Given the description of an element on the screen output the (x, y) to click on. 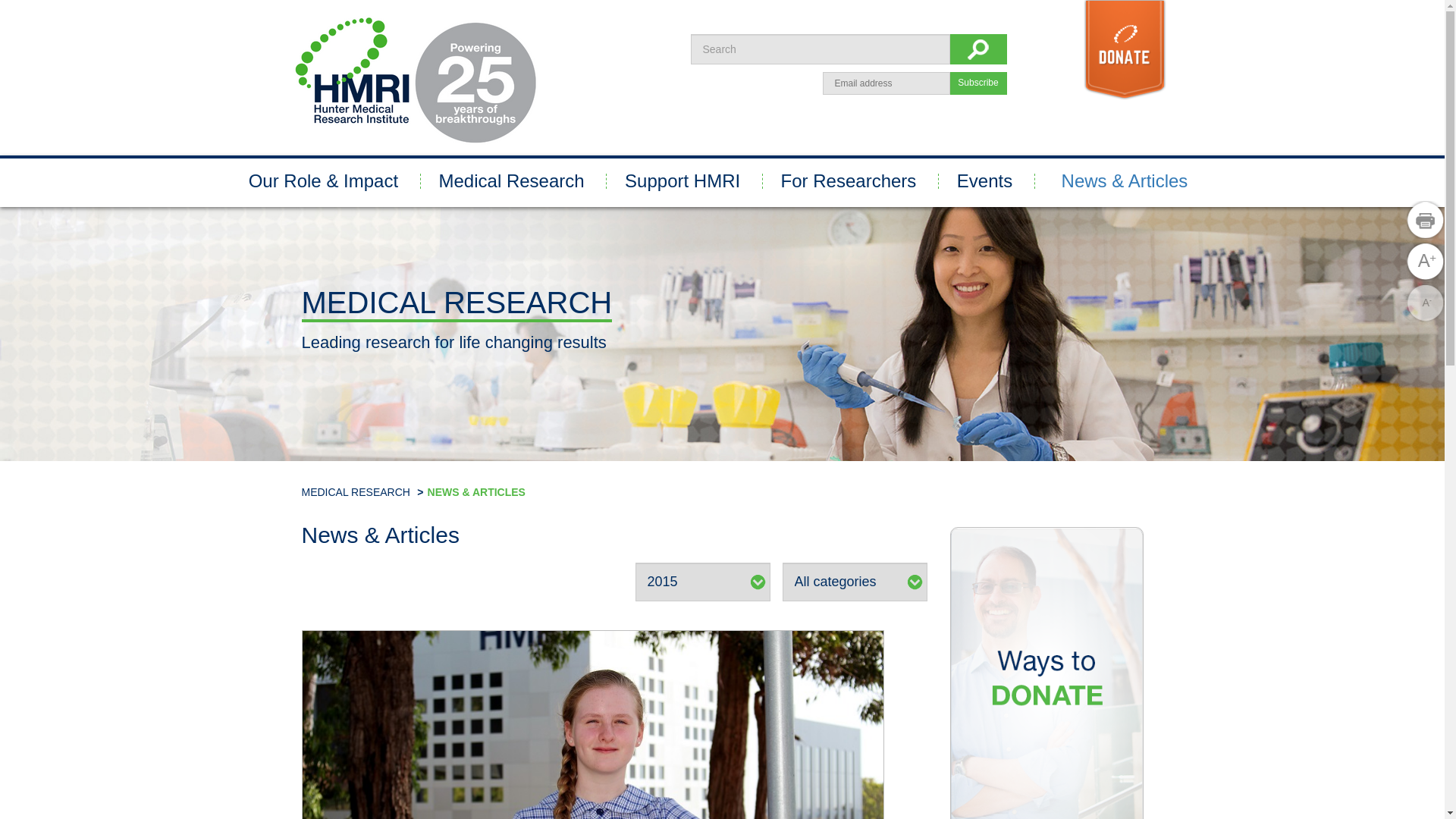
<none> Element type: text (9, 5)
Home Element type: hover (414, 80)
Medical Research Element type: text (511, 180)
Support HMRI Element type: text (681, 180)
Go Element type: text (17, 12)
News & Articles Element type: text (1124, 180)
0 Element type: text (1425, 219)
Skip to main content Element type: text (0, 0)
Subscribe Element type: text (977, 83)
Events Element type: text (984, 180)
MEDICAL RESEARCH Element type: text (355, 492)
For Researchers Element type: text (848, 180)
Medical Research Element type: hover (722, 334)
Our Role & Impact Element type: text (323, 180)
  Element type: text (977, 49)
